Given the description of an element on the screen output the (x, y) to click on. 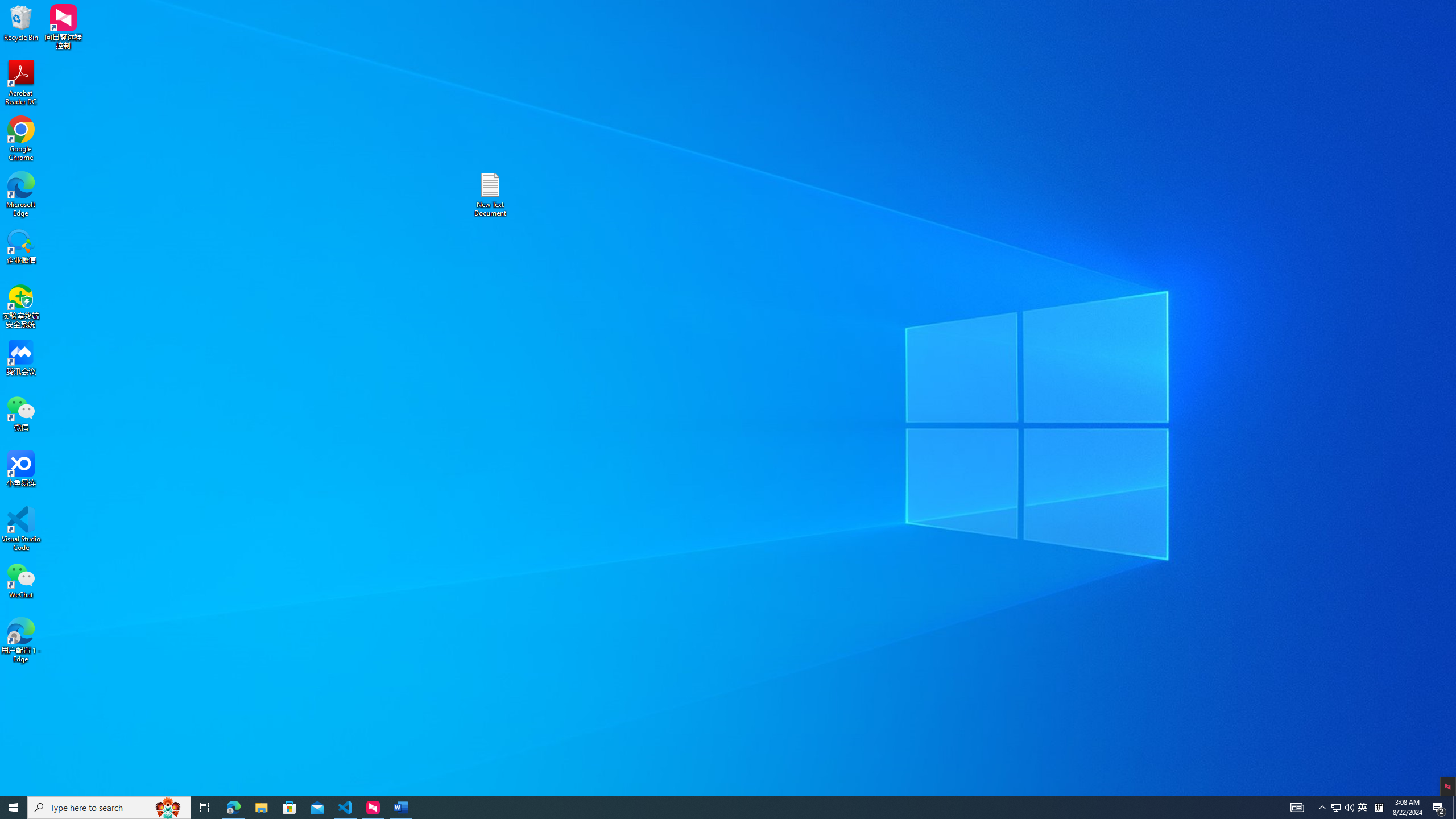
Spelling and Grammar Check No Errors (85, 790)
Intense Emphasis (809, 56)
Visual Studio Code - 1 running window (345, 807)
Action Center, 2 new notifications (1439, 807)
AutomationID: 4105 (1297, 807)
